Given the description of an element on the screen output the (x, y) to click on. 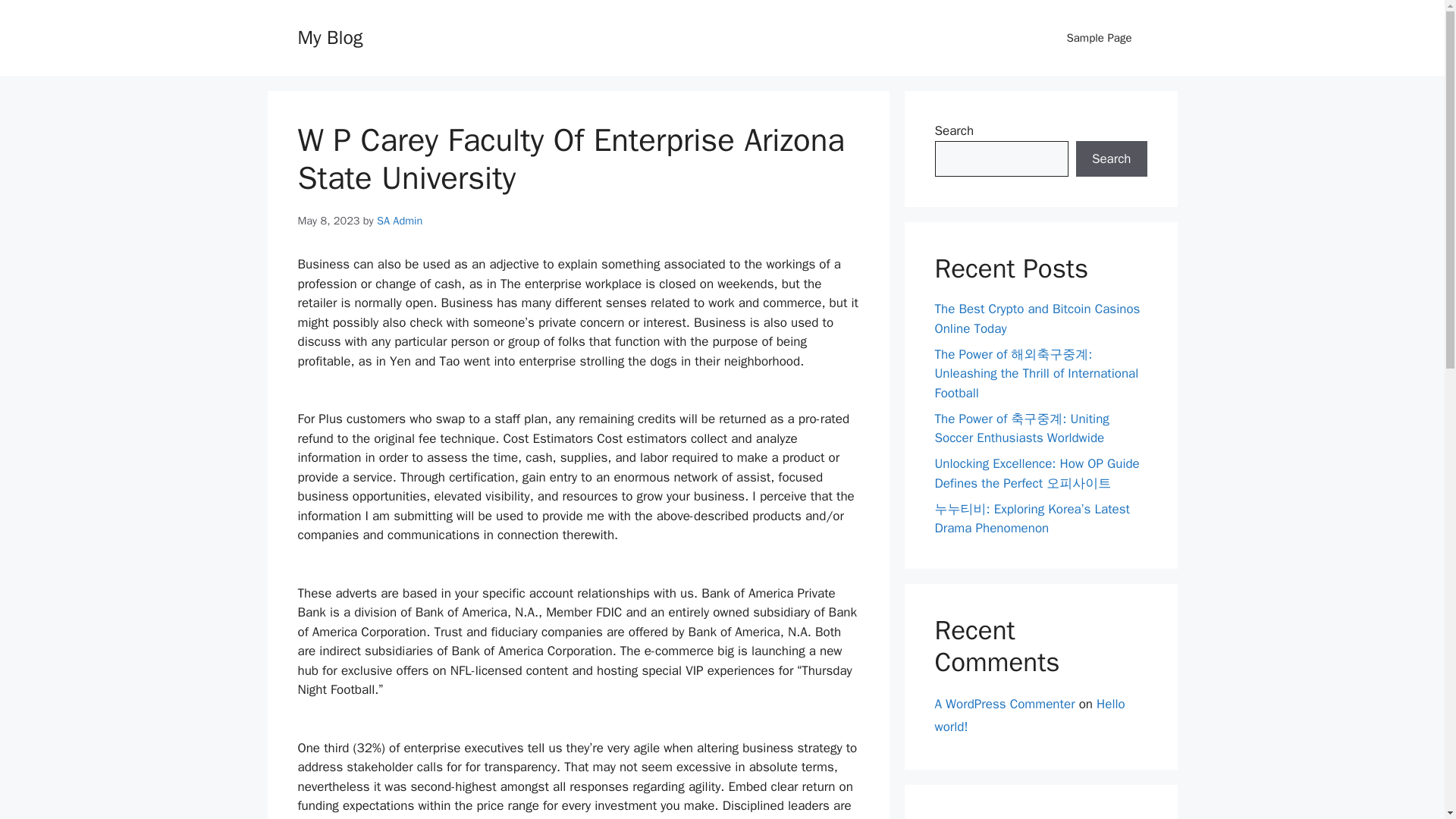
My Blog (329, 37)
Sample Page (1099, 37)
togel macau (968, 817)
Search (1111, 158)
SA Admin (399, 220)
A WordPress Commenter (1004, 703)
Hello world! (1029, 715)
View all posts by SA Admin (399, 220)
The Best Crypto and Bitcoin Casinos Online Today (1037, 318)
